Given the description of an element on the screen output the (x, y) to click on. 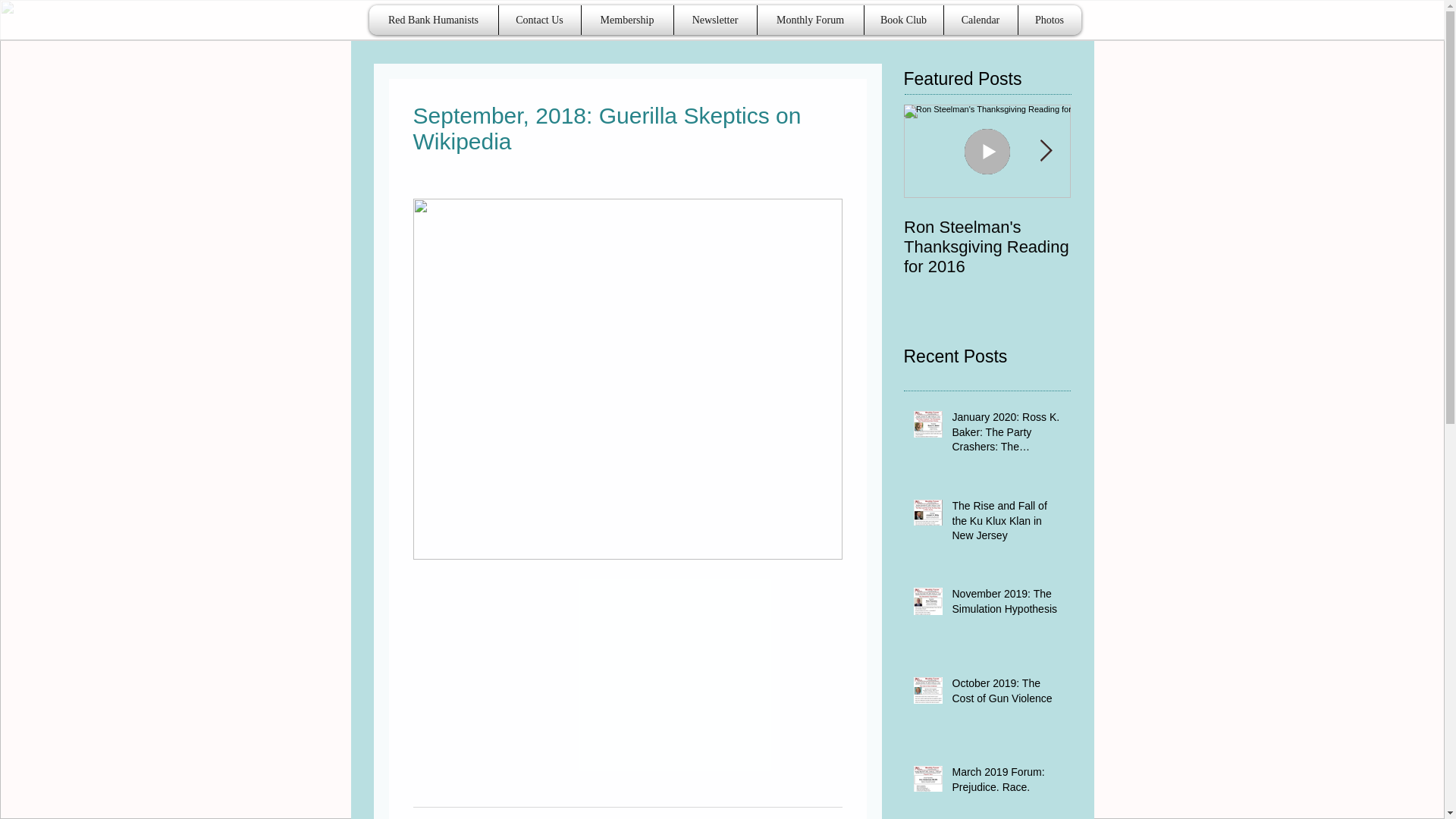
October 2019: The Cost of Gun Violence (1006, 693)
Red Bank Humanists (433, 19)
The Rise and Fall of the Ku Klux Klan in New Jersey (1006, 523)
Newsletter (715, 19)
November 2019: The Simulation Hypothesis (1006, 604)
March 2019 Forum: Prejudice. Race. (1006, 782)
Membership (627, 19)
Contact Us (539, 19)
2016 Picnic (1153, 227)
Book Club (903, 19)
Photos (1049, 19)
Calendar (980, 19)
Monthly Forum (810, 19)
Ron Steelman's Thanksgiving Reading for 2016 (987, 246)
